Given the description of an element on the screen output the (x, y) to click on. 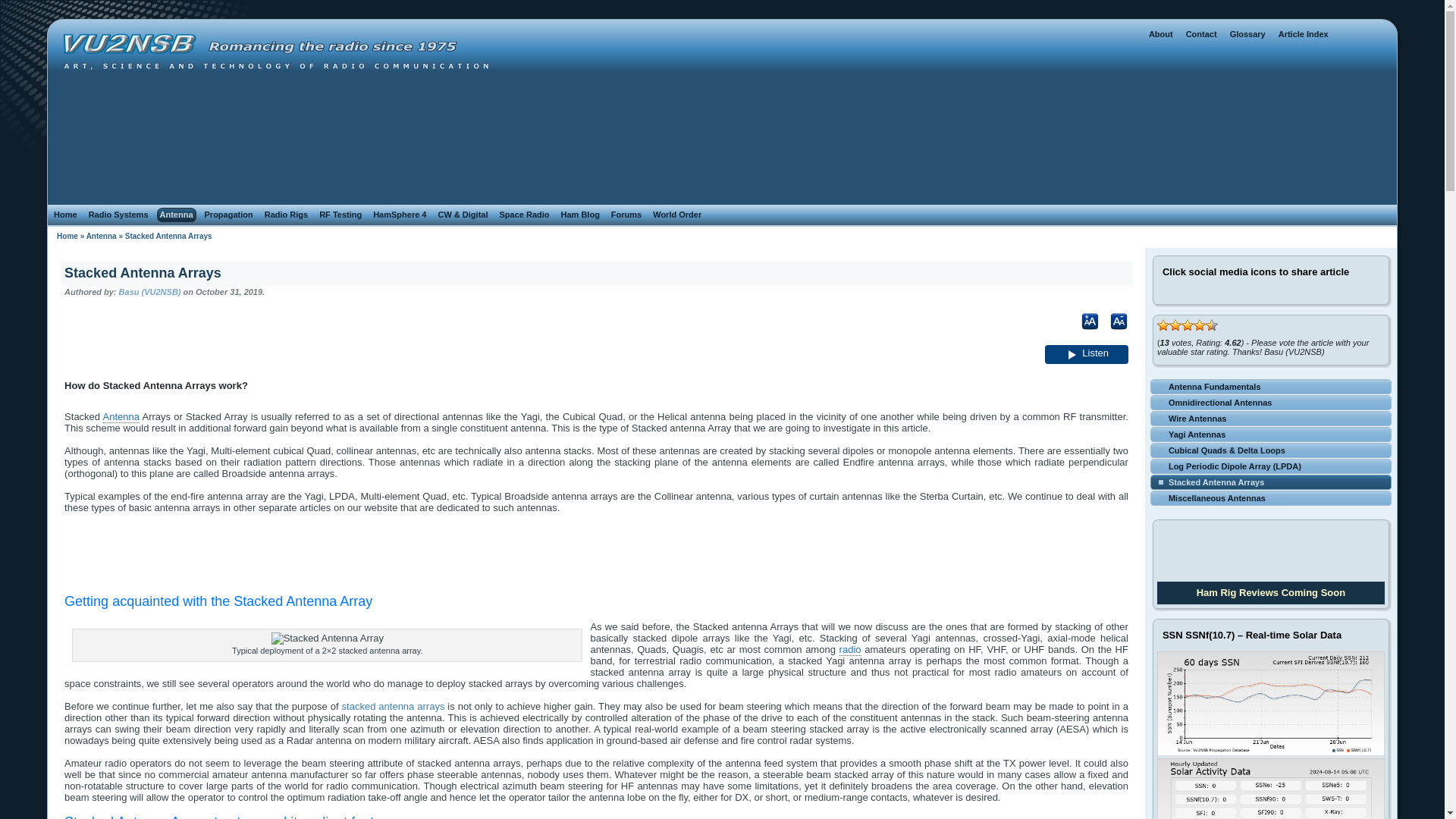
Increase Font Size (1084, 336)
Article Index (1303, 34)
Contact (1201, 34)
Text To Audio:  Tap to listen post. (1086, 353)
Home (65, 214)
Antenna (176, 214)
Glossary (1247, 34)
About (1160, 34)
Radio Rigs (286, 214)
Reduce Font Size (1113, 336)
